Given the description of an element on the screen output the (x, y) to click on. 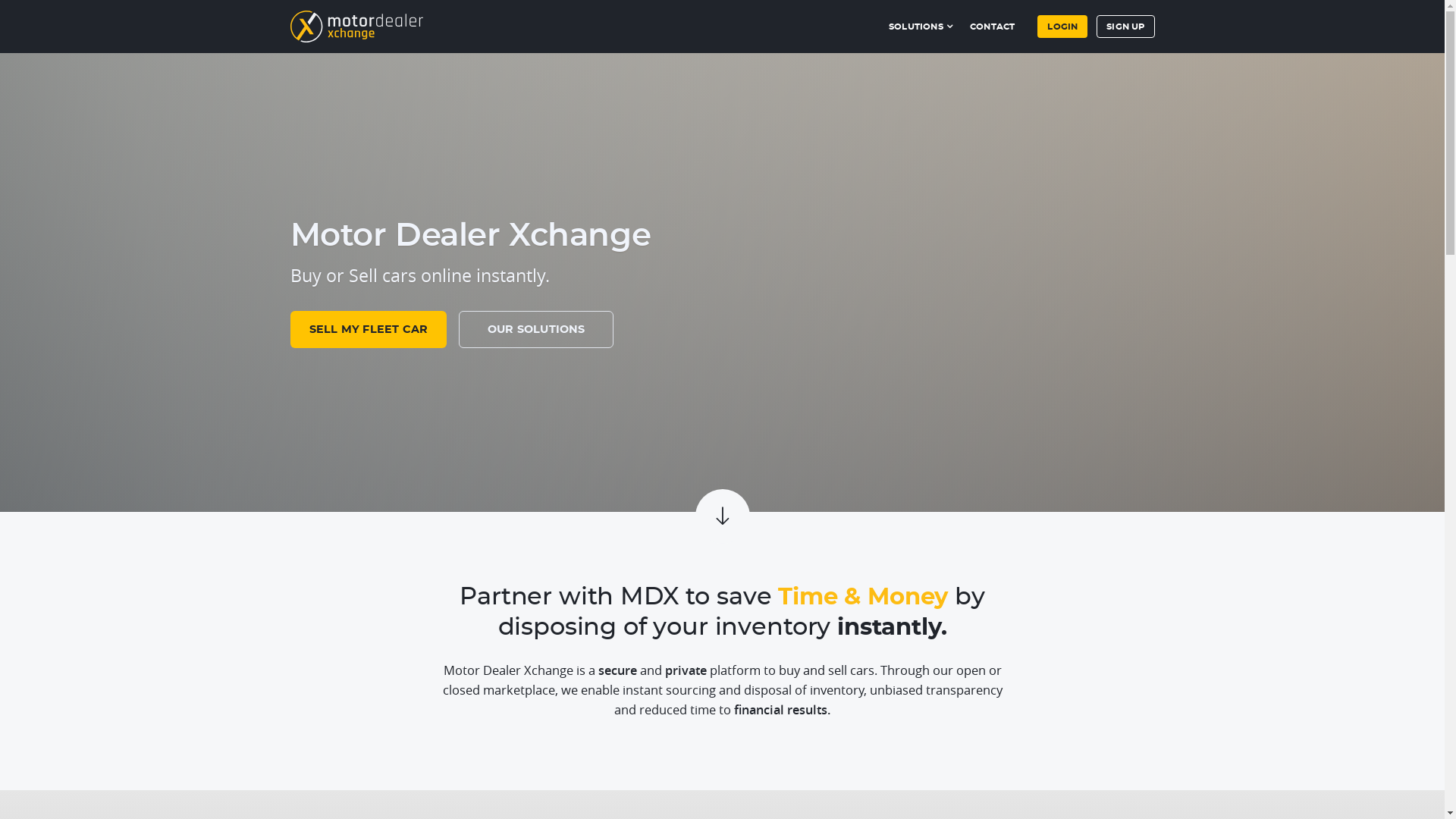
SELL MY FLEET CAR Element type: text (367, 329)
SIGN UP Element type: text (1125, 26)
OUR SOLUTIONS Element type: text (535, 329)
CONTACT Element type: text (992, 22)
SOLUTIONS Element type: text (921, 22)
LOGIN Element type: text (1062, 26)
